Given the description of an element on the screen output the (x, y) to click on. 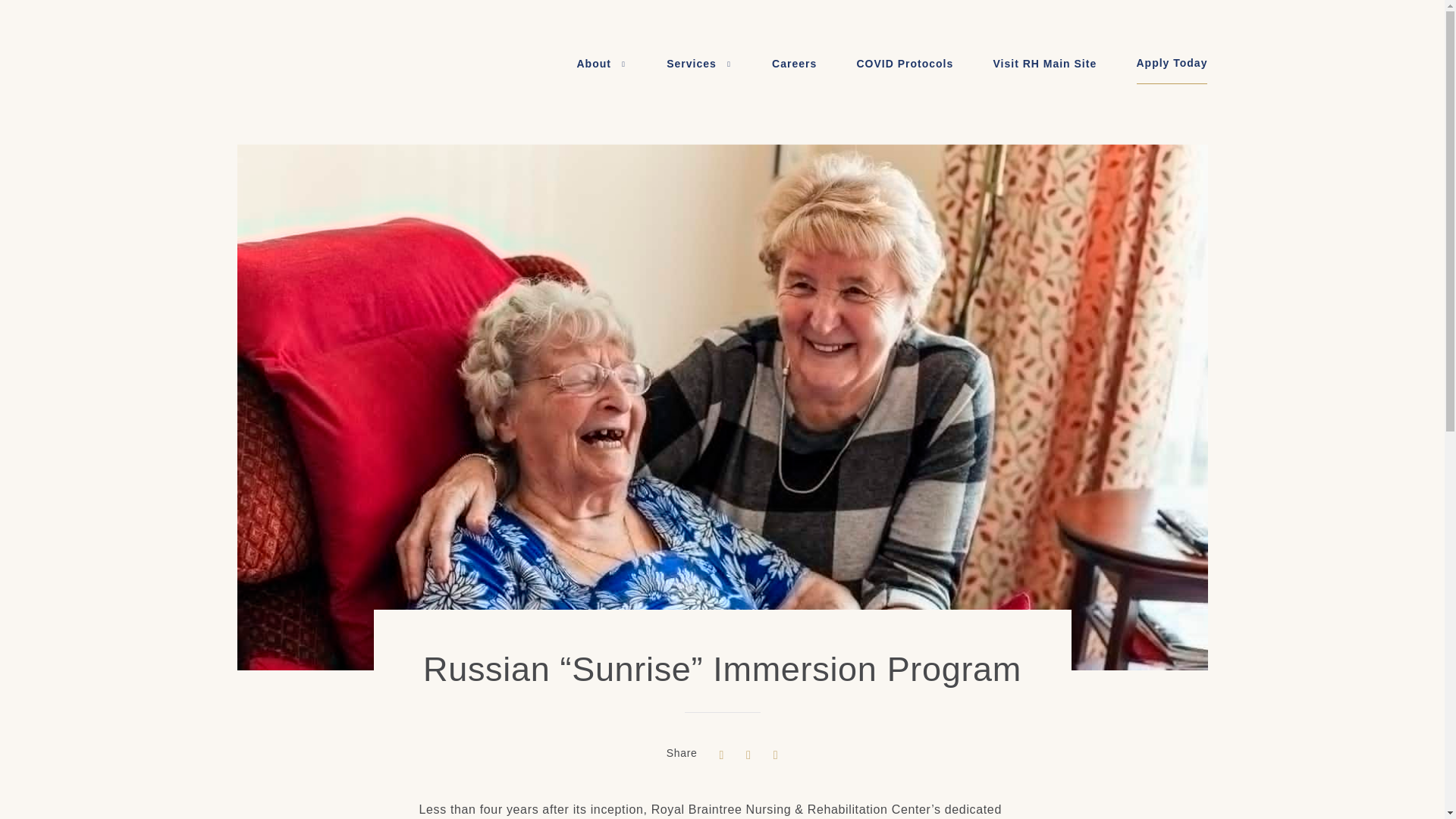
COVID Protocols (905, 64)
Careers (793, 64)
Apply Today (1172, 63)
Royal Health Falmouth (349, 68)
About (601, 64)
Visit RH Main Site (1044, 64)
Services (699, 64)
